Given the description of an element on the screen output the (x, y) to click on. 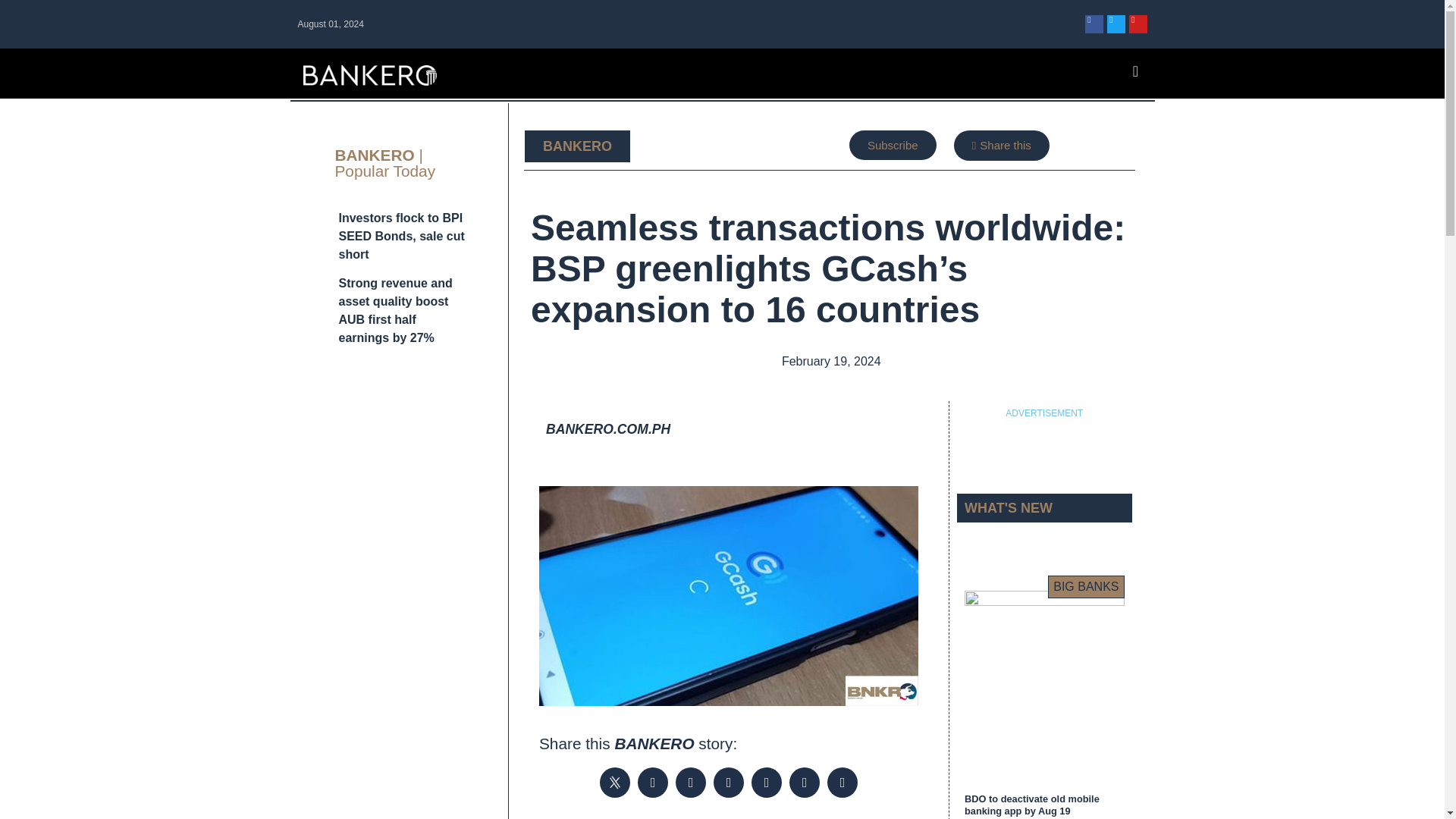
Share this (1001, 145)
BANKERO.COM.PH (607, 428)
BANKERO (577, 146)
BIG BANKS (1086, 586)
Investors flock to BPI SEED Bonds, sale cut short (400, 236)
February 19, 2024 (828, 361)
Subscribe (892, 144)
BDO to deactivate old mobile banking app by Aug 19 (1031, 804)
